Given the description of an element on the screen output the (x, y) to click on. 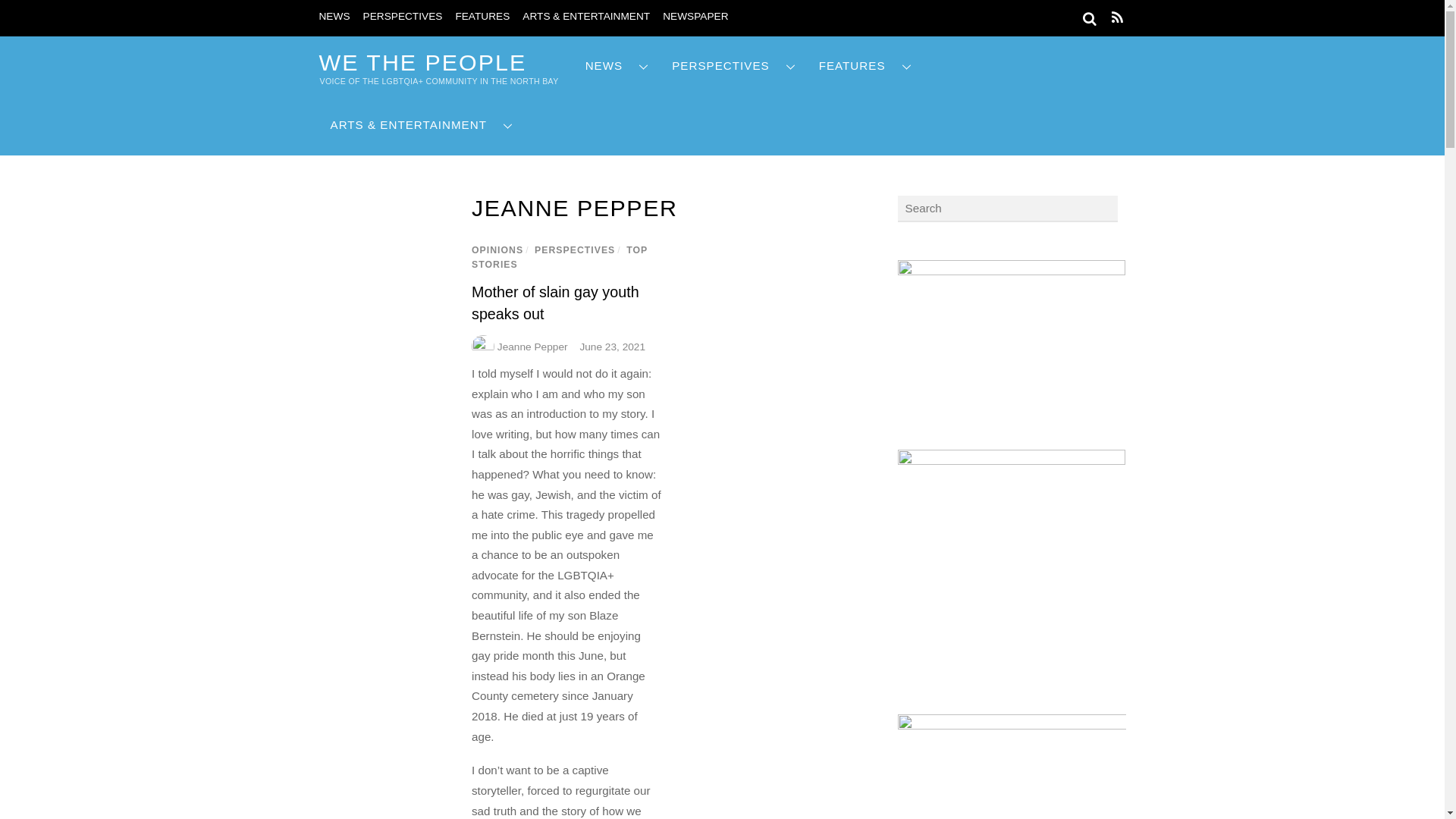
NEWS (617, 66)
PERSPECTIVES (402, 16)
We The People (421, 62)
FEATURES (481, 16)
WE THE PEOPLE (421, 62)
NEWSPAPER (695, 16)
NEWS (333, 16)
